Given the description of an element on the screen output the (x, y) to click on. 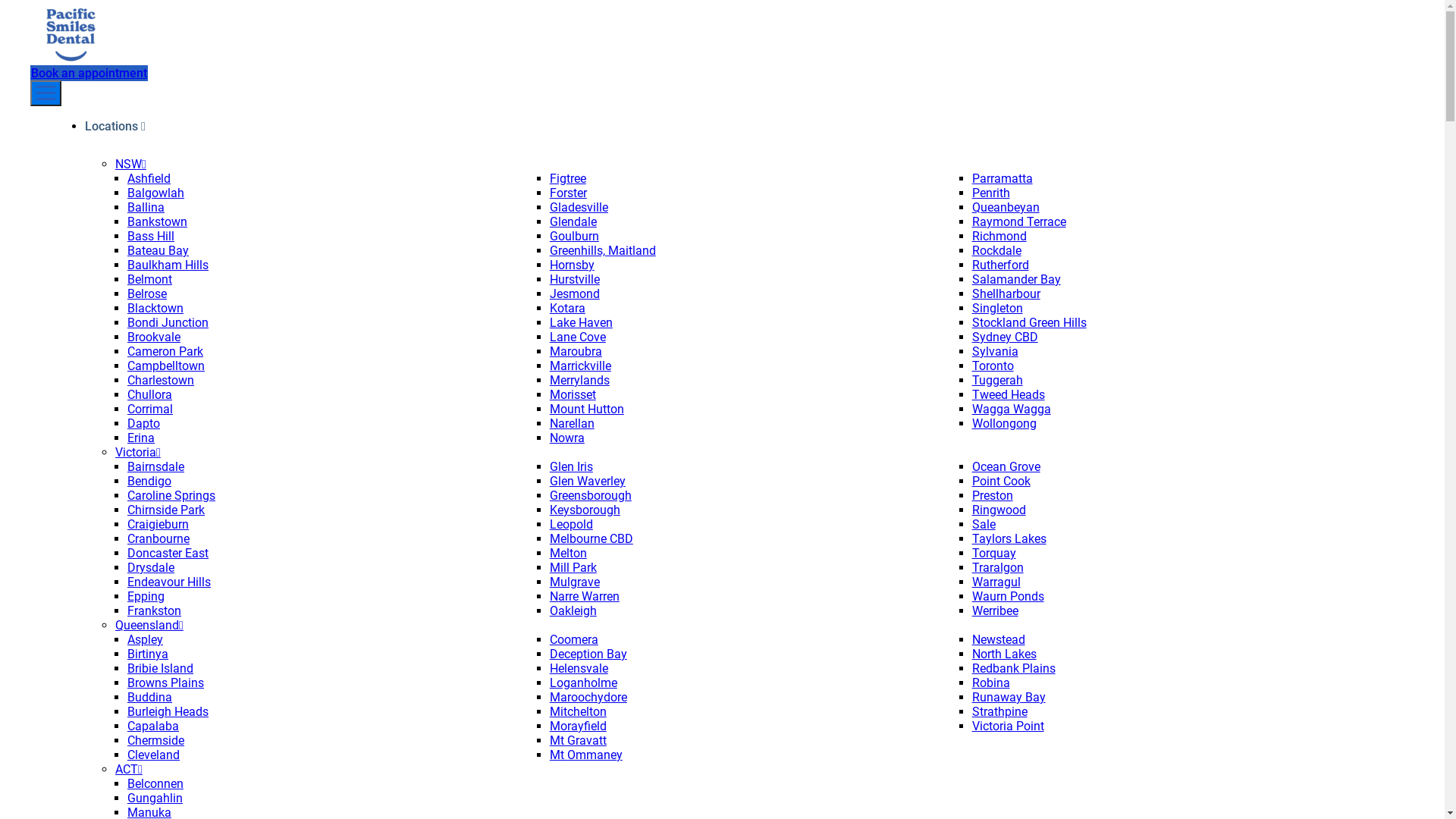
Marrickville Element type: text (580, 365)
Tweed Heads Element type: text (1008, 394)
Cameron Park Element type: text (165, 351)
Bribie Island Element type: text (160, 668)
Wagga Wagga Element type: text (1011, 408)
Narre Warren Element type: text (584, 596)
Ocean Grove Element type: text (1006, 466)
Chermside Element type: text (155, 740)
Melton Element type: text (567, 553)
Baulkham Hills Element type: text (167, 264)
Stockland Green Hills Element type: text (1029, 322)
Book an appointment Element type: text (88, 73)
Campbelltown Element type: text (165, 365)
Mitchelton Element type: text (577, 711)
Frankston Element type: text (154, 610)
Mulgrave Element type: text (574, 581)
North Lakes Element type: text (1004, 653)
Mt Ommaney Element type: text (585, 754)
Caroline Springs Element type: text (171, 495)
Bateau Bay Element type: text (157, 250)
Ringwood Element type: text (999, 509)
Mount Hutton Element type: text (586, 408)
Browns Plains Element type: text (165, 682)
Bendigo Element type: text (149, 480)
Greensborough Element type: text (590, 495)
Ballina Element type: text (145, 207)
Glen Iris Element type: text (571, 466)
Warragul Element type: text (996, 581)
Belrose Element type: text (146, 293)
Newstead Element type: text (998, 639)
Ashfield Element type: text (148, 178)
Tuggerah Element type: text (997, 380)
Balgowlah Element type: text (155, 192)
Glen Waverley Element type: text (587, 480)
Helensvale Element type: text (578, 668)
Leopold Element type: text (571, 524)
Forster Element type: text (567, 192)
ACT Element type: text (128, 769)
Capalaba Element type: text (152, 725)
Hurstville Element type: text (574, 279)
Bankstown Element type: text (157, 221)
Richmond Element type: text (999, 236)
Penrith Element type: text (991, 192)
Runaway Bay Element type: text (1008, 697)
Endeavour Hills Element type: text (168, 581)
Craigieburn Element type: text (157, 524)
Victoria Point Element type: text (1008, 725)
Point Cook Element type: text (1001, 480)
Merrylands Element type: text (579, 380)
NSW Element type: text (130, 163)
Belconnen Element type: text (155, 783)
Locations Element type: text (114, 126)
Chullora Element type: text (149, 394)
Aspley Element type: text (145, 639)
Waurn Ponds Element type: text (1008, 596)
Torquay Element type: text (994, 553)
Bass Hill Element type: text (150, 236)
Singleton Element type: text (997, 308)
Blacktown Element type: text (155, 308)
Epping Element type: text (145, 596)
Mt Gravatt Element type: text (577, 740)
Bondi Junction Element type: text (167, 322)
Gladesville Element type: text (578, 207)
Erina Element type: text (140, 437)
Sydney CBD Element type: text (1005, 336)
Bairnsdale Element type: text (155, 466)
Maroubra Element type: text (575, 351)
Strathpine Element type: text (999, 711)
Parramatta Element type: text (1002, 178)
Sale Element type: text (983, 524)
Jesmond Element type: text (574, 293)
Glendale Element type: text (572, 221)
Victoria Element type: text (137, 452)
Shellharbour Element type: text (1006, 293)
Burleigh Heads Element type: text (167, 711)
Greenhills, Maitland Element type: text (602, 250)
Traralgon Element type: text (997, 567)
Redbank Plains Element type: text (1013, 668)
Toronto Element type: text (992, 365)
Nowra Element type: text (566, 437)
Lane Cove Element type: text (577, 336)
Cranbourne Element type: text (158, 538)
Charlestown Element type: text (160, 380)
Hornsby Element type: text (571, 264)
Maroochydore Element type: text (588, 697)
Wollongong Element type: text (1004, 423)
Oakleigh Element type: text (572, 610)
Raymond Terrace Element type: text (1019, 221)
Mill Park Element type: text (572, 567)
Robina Element type: text (991, 682)
Coomera Element type: text (573, 639)
Rutherford Element type: text (1000, 264)
Narellan Element type: text (571, 423)
Figtree Element type: text (567, 178)
Cleveland Element type: text (153, 754)
Lake Haven Element type: text (580, 322)
Taylors Lakes Element type: text (1009, 538)
Deception Bay Element type: text (588, 653)
Melbourne CBD Element type: text (591, 538)
Queanbeyan Element type: text (1005, 207)
Loganholme Element type: text (583, 682)
Rockdale Element type: text (996, 250)
Drysdale Element type: text (150, 567)
Sylvania Element type: text (995, 351)
Morayfield Element type: text (577, 725)
Corrimal Element type: text (149, 408)
Salamander Bay Element type: text (1016, 279)
Preston Element type: text (992, 495)
Keysborough Element type: text (584, 509)
Chirnside Park Element type: text (165, 509)
Goulburn Element type: text (574, 236)
Dapto Element type: text (143, 423)
Belmont Element type: text (149, 279)
Morisset Element type: text (572, 394)
Brookvale Element type: text (153, 336)
Queensland Element type: text (149, 625)
Gungahlin Element type: text (154, 797)
Doncaster East Element type: text (167, 553)
Buddina Element type: text (149, 697)
Kotara Element type: text (567, 308)
Birtinya Element type: text (147, 653)
Werribee Element type: text (995, 610)
